Given the description of an element on the screen output the (x, y) to click on. 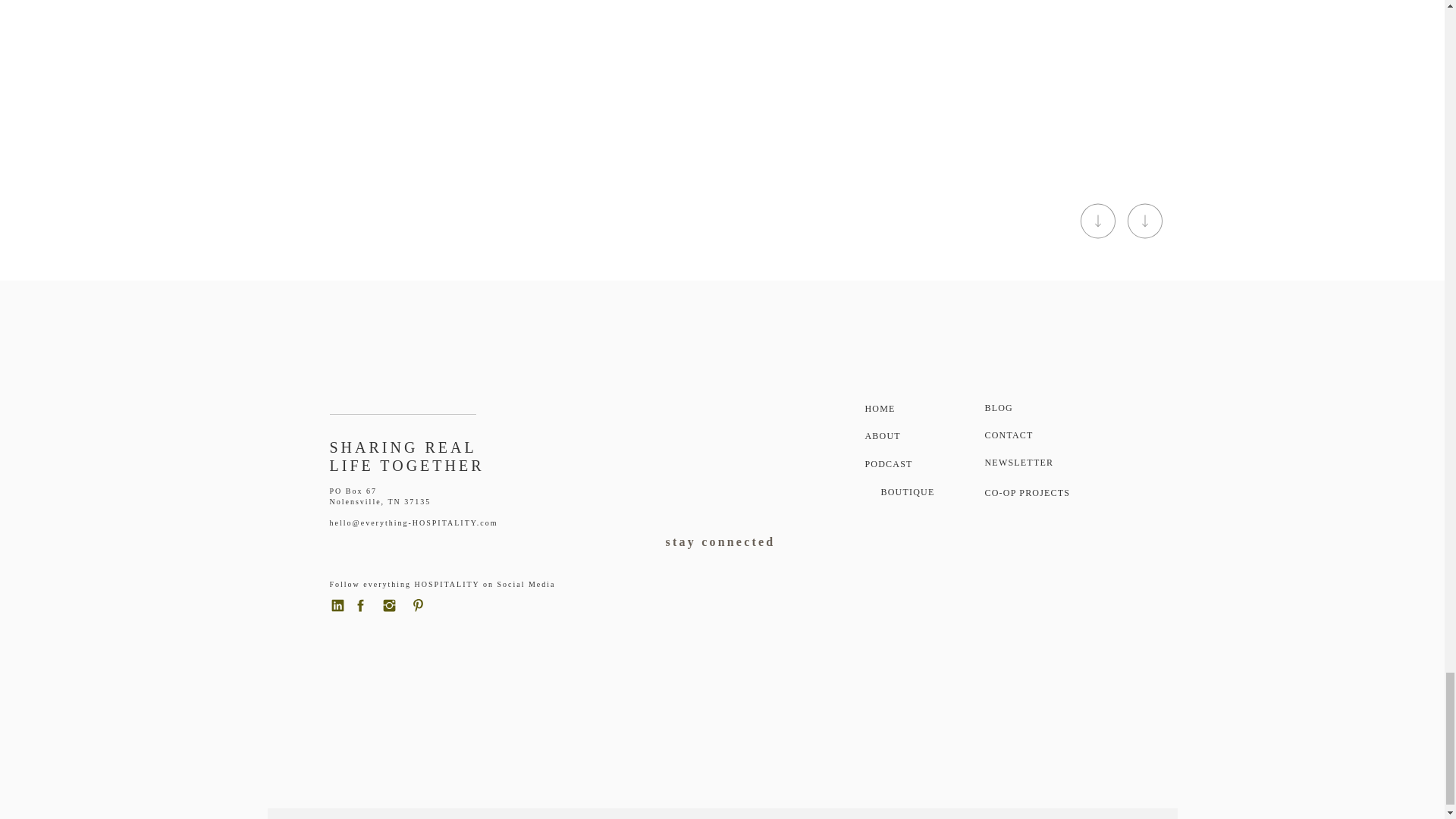
HOME (901, 411)
ABOUT (902, 438)
CO-OP PROJECTS (1035, 495)
